Given the description of an element on the screen output the (x, y) to click on. 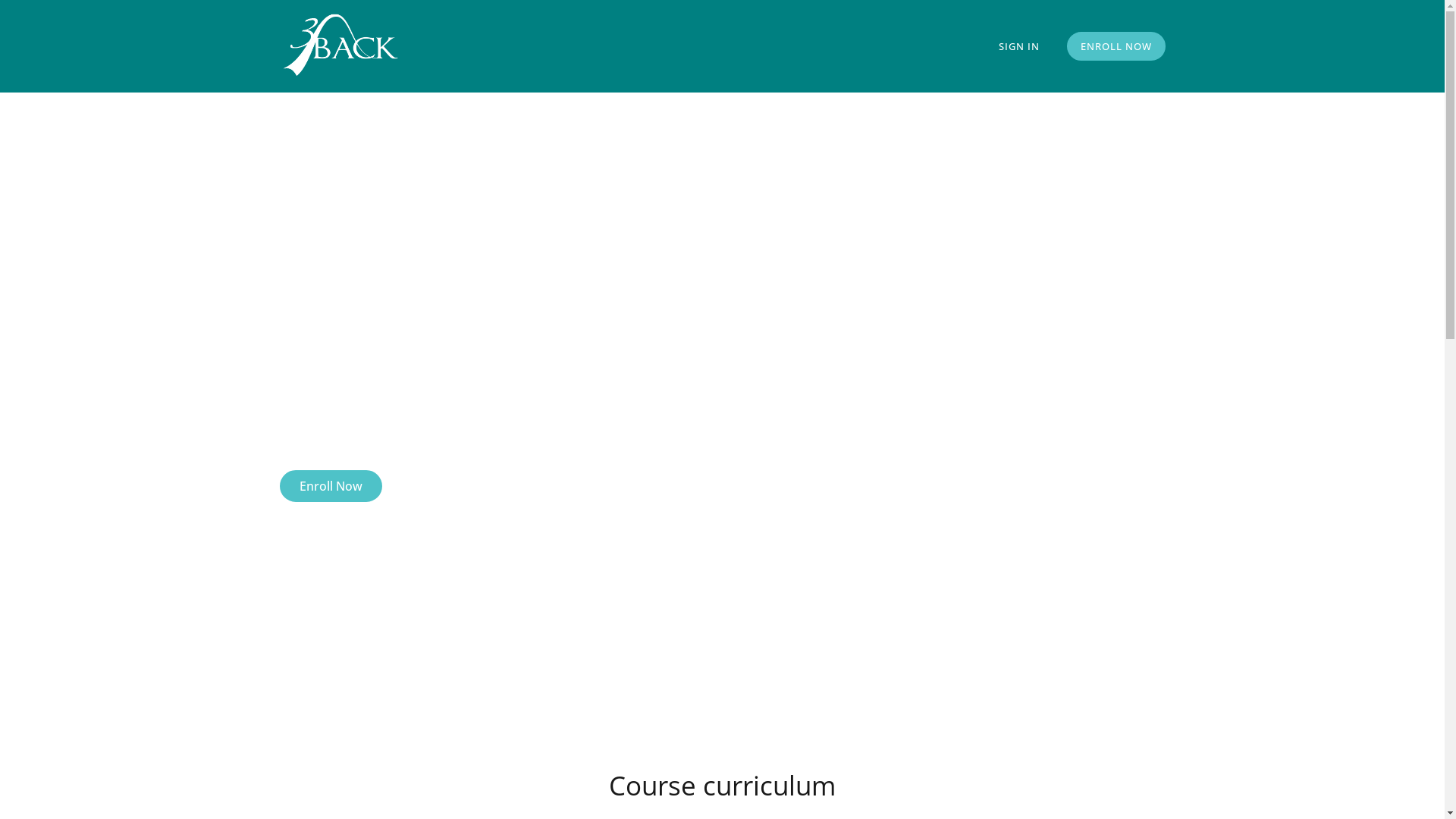
SIGN IN Element type: text (1017, 46)
ENROLL NOW Element type: text (1115, 45)
Enroll Now Element type: text (330, 486)
